Given the description of an element on the screen output the (x, y) to click on. 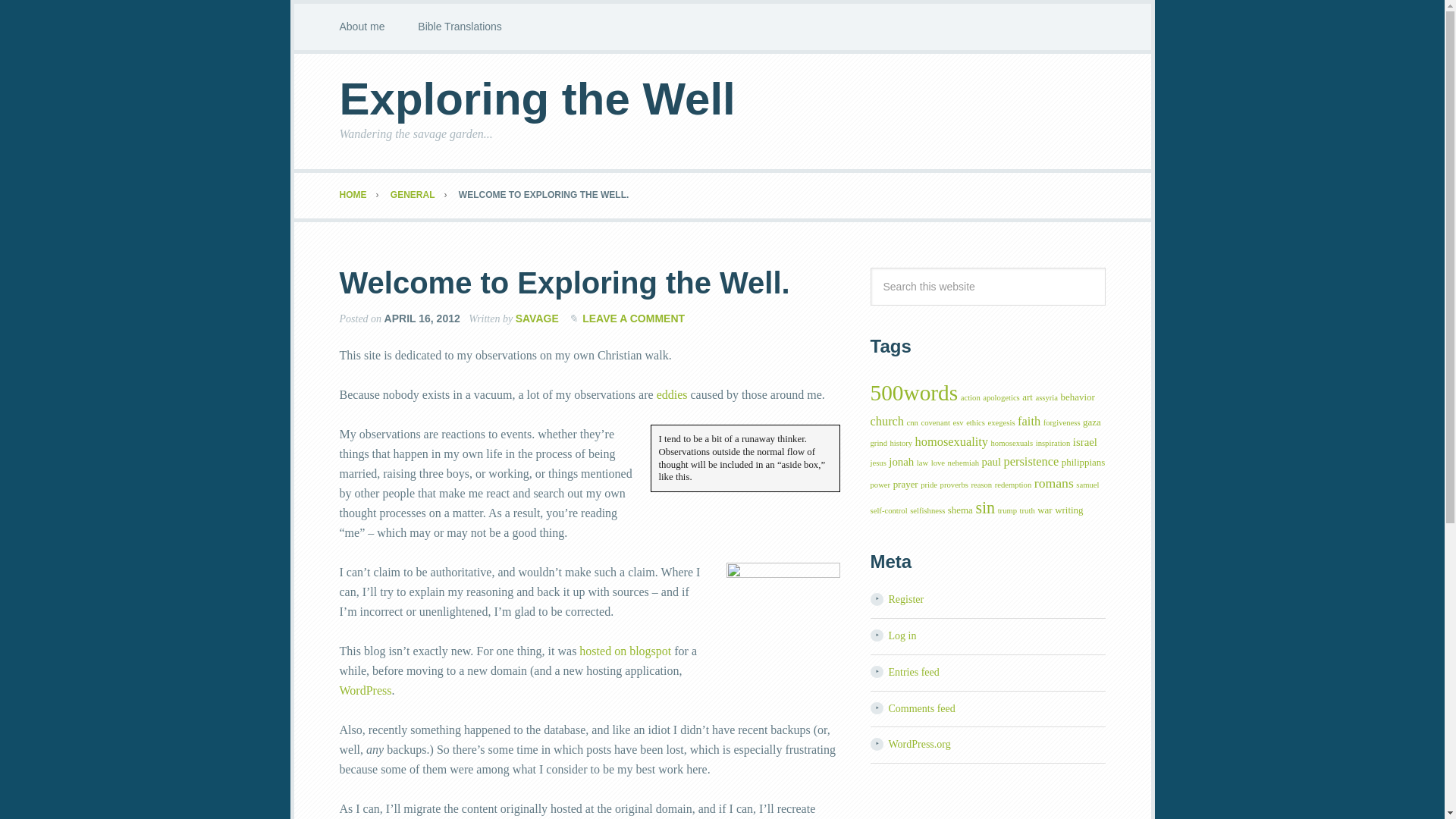
WordPress (365, 689)
inspiration (1052, 442)
exegesis (1000, 422)
behavior (1077, 396)
apologetics (1001, 397)
forgiveness (1061, 422)
LEAVE A COMMENT (633, 318)
esv (957, 422)
history (900, 442)
500words (914, 392)
homosexuality (951, 441)
action (969, 397)
cnn (912, 422)
ethics (975, 422)
faith (1029, 421)
